Given the description of an element on the screen output the (x, y) to click on. 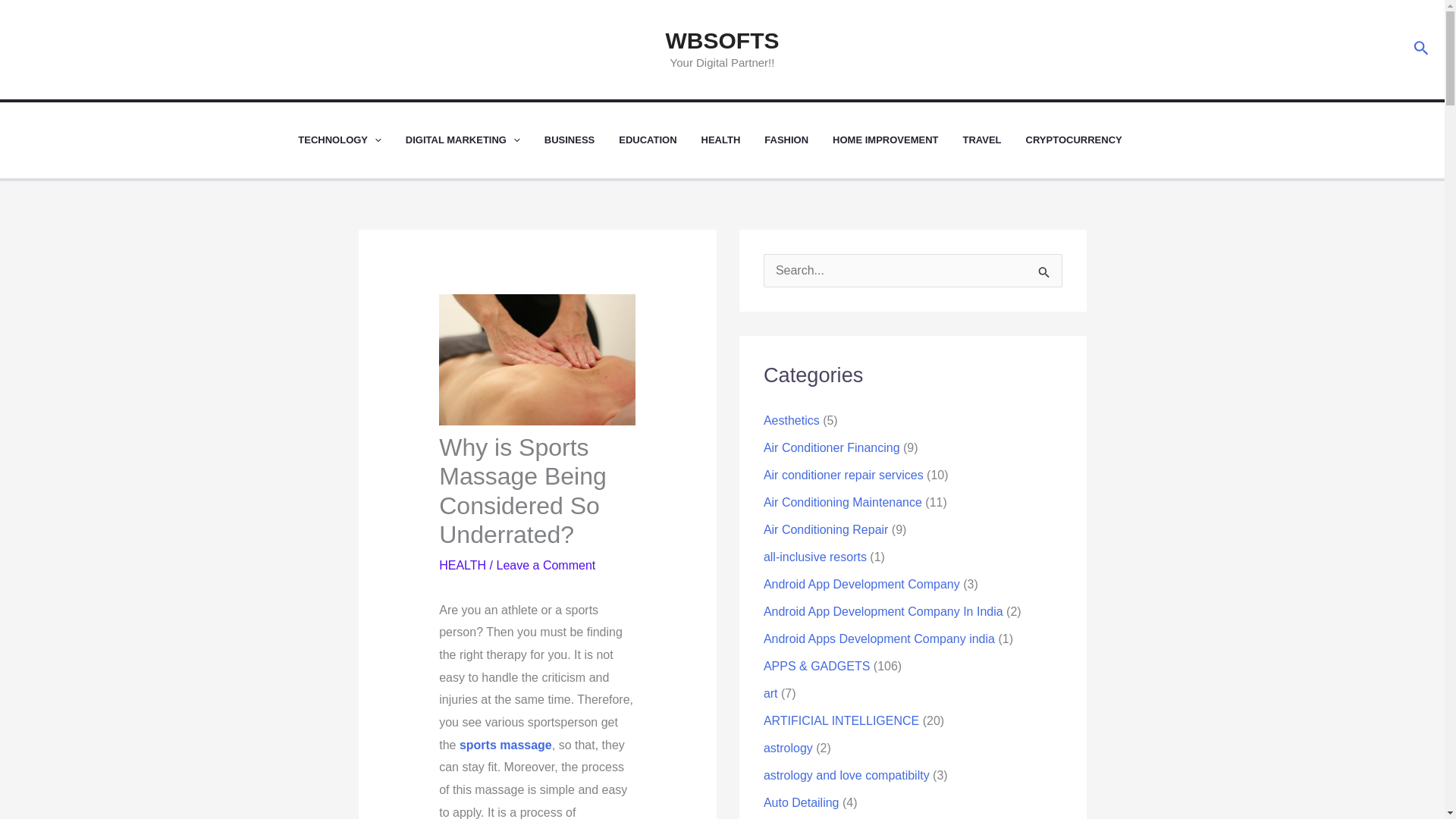
FASHION (798, 140)
HEALTH (733, 140)
BUSINESS (581, 140)
WBSOFTS (721, 40)
Search (1421, 49)
TECHNOLOGY (352, 140)
HOME IMPROVEMENT (897, 140)
Search (1044, 274)
Search (1044, 274)
DIGITAL MARKETING (475, 140)
TRAVEL (994, 140)
EDUCATION (659, 140)
CRYPTOCURRENCY (1086, 140)
